Given the description of an element on the screen output the (x, y) to click on. 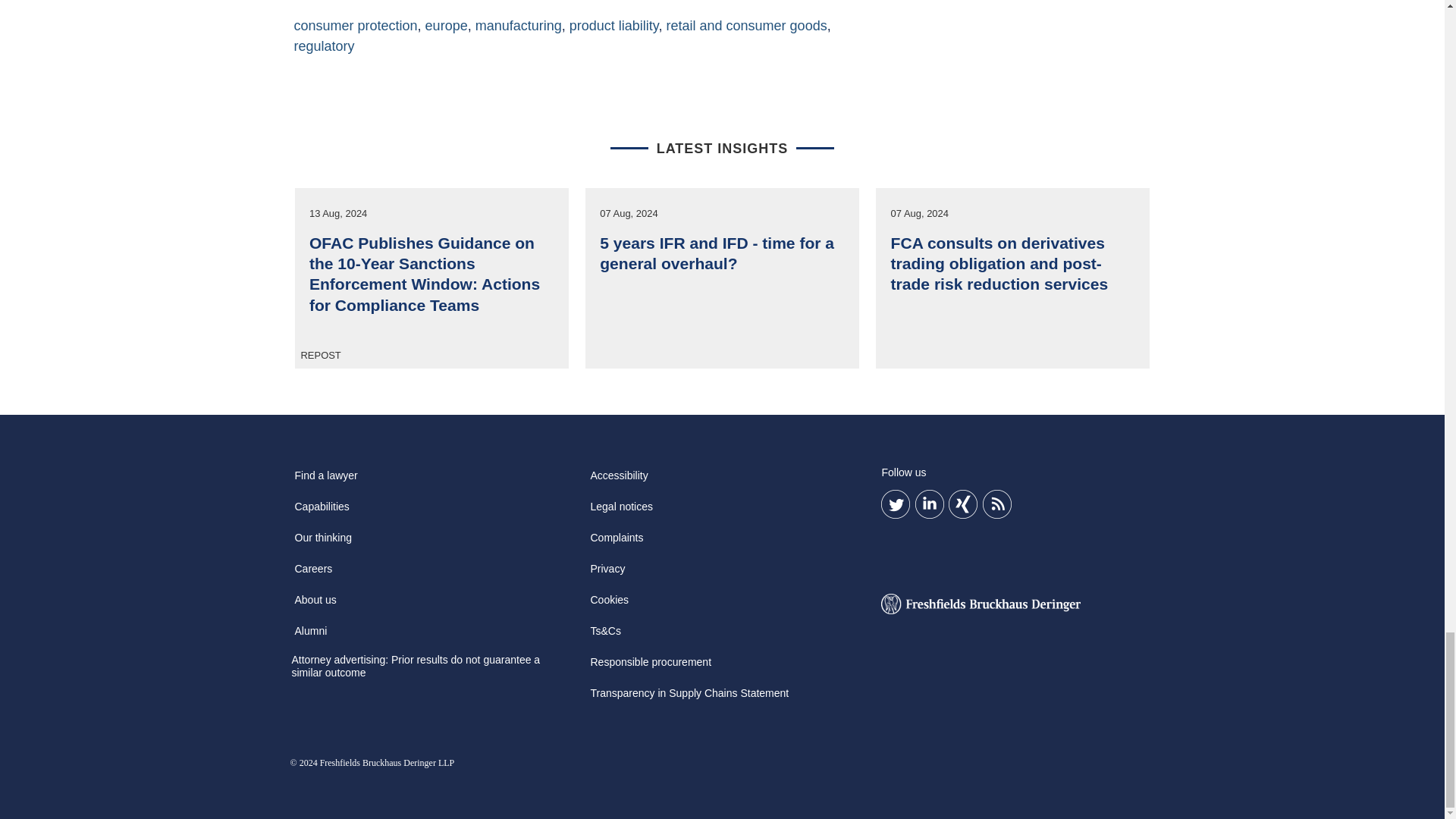
Our thinking (322, 542)
About us (315, 604)
Privacy (606, 573)
Careers (312, 573)
Responsible procurement (650, 666)
Find a lawyer (325, 480)
Accessibility (618, 480)
Transparency in Supply Chains Statement (689, 698)
Capabilities (321, 511)
Complaints (616, 542)
